Given the description of an element on the screen output the (x, y) to click on. 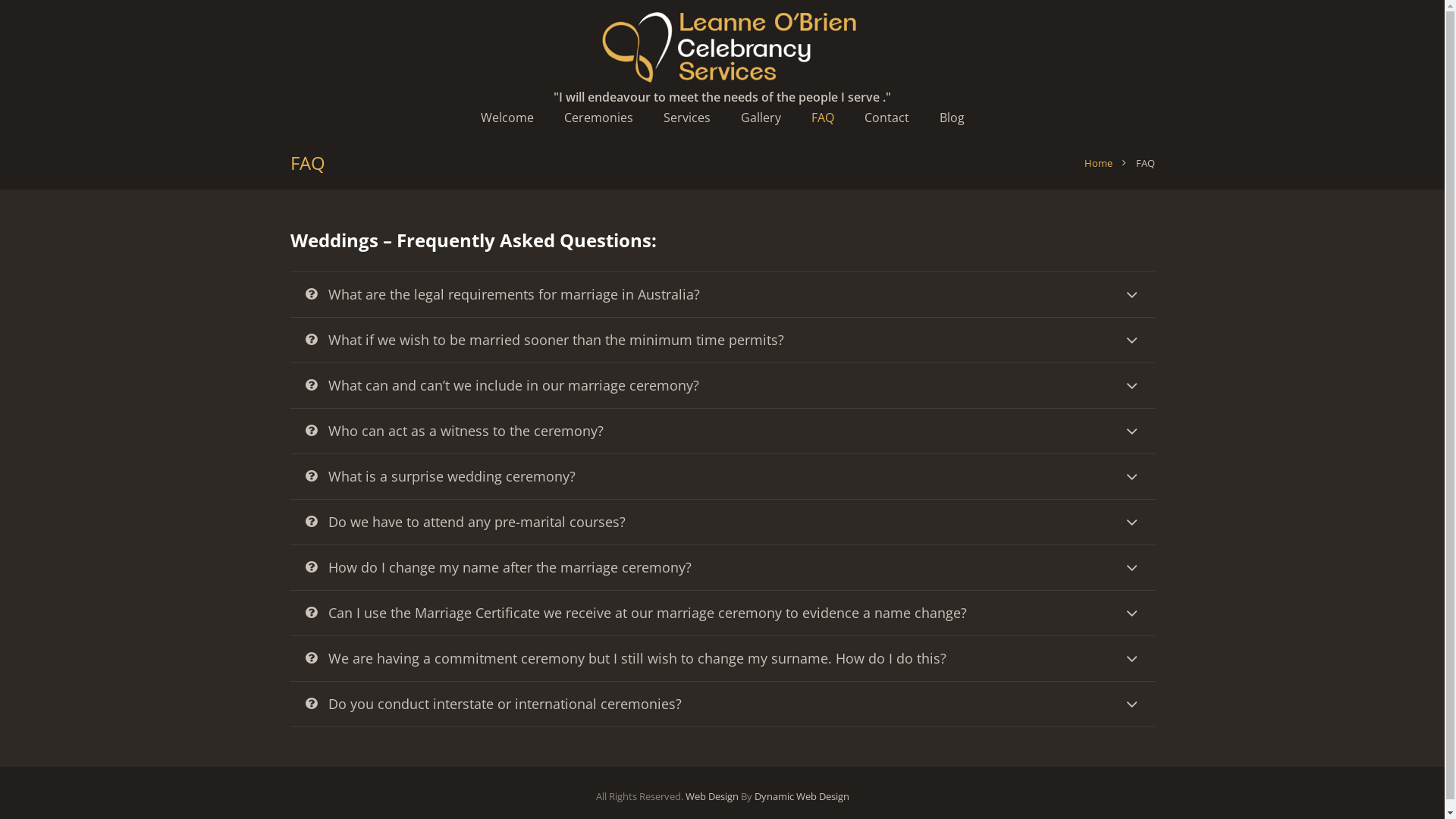
Who can act as a witness to the ceremony? Element type: text (721, 430)
Gallery Element type: text (759, 117)
Ceremonies Element type: text (598, 117)
Contact Element type: text (886, 117)
Dynamic Web Design Element type: text (800, 796)
Welcome Element type: text (507, 117)
Blog Element type: text (951, 117)
Do you conduct interstate or international ceremonies? Element type: text (721, 703)
Services Element type: text (685, 117)
What is a surprise wedding ceremony? Element type: text (721, 476)
Do we have to attend any pre-marital courses? Element type: text (721, 521)
Web Design Element type: text (711, 796)
FAQ Element type: text (822, 117)
Home Element type: text (1098, 162)
How do I change my name after the marriage ceremony? Element type: text (721, 567)
